Given the description of an element on the screen output the (x, y) to click on. 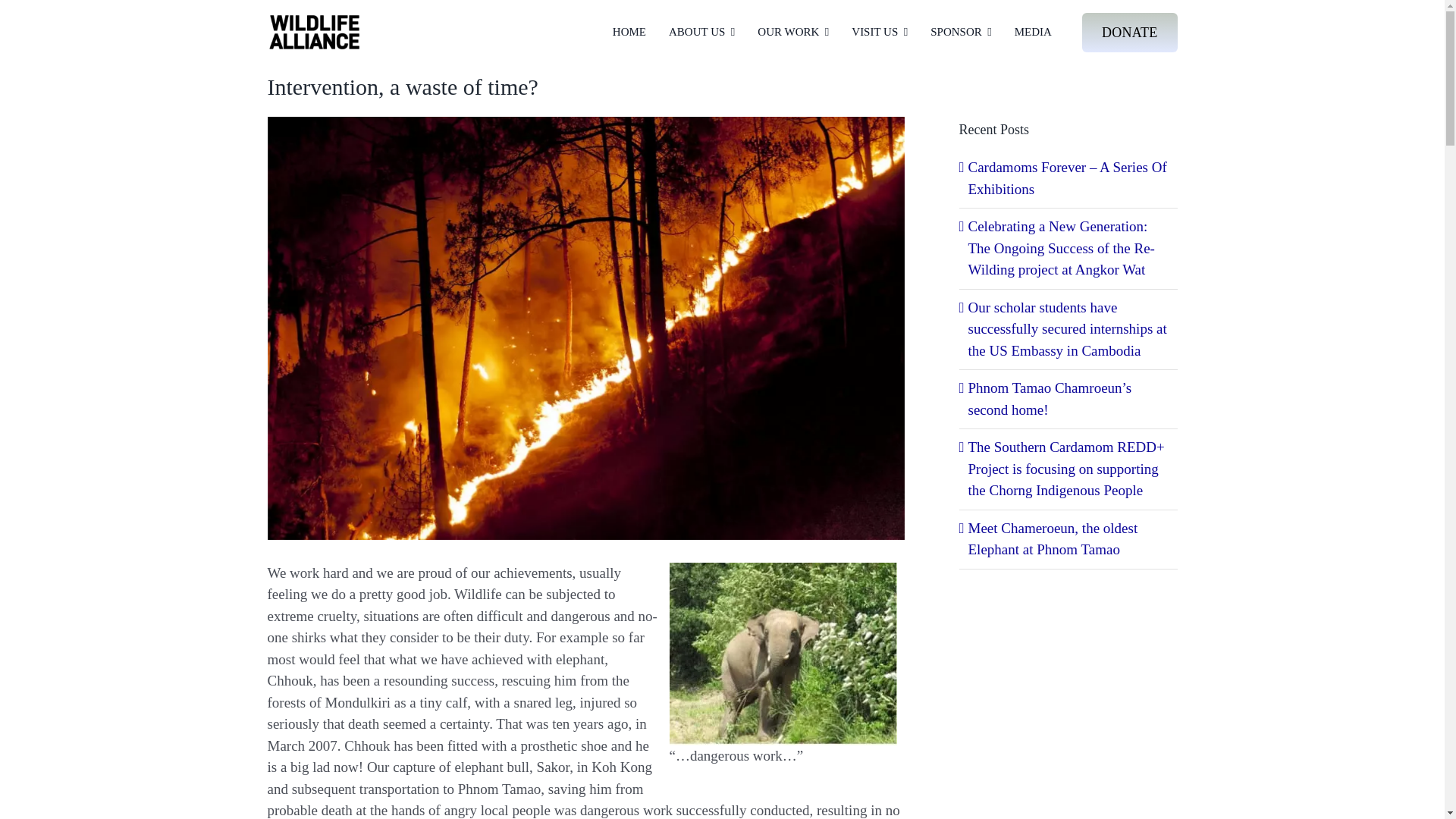
OUR WORK (792, 31)
MEDIA (1032, 31)
SPONSOR (960, 31)
HOME (629, 31)
DONATE (1129, 32)
ABOUT US (701, 31)
VISIT US (879, 31)
